Given the description of an element on the screen output the (x, y) to click on. 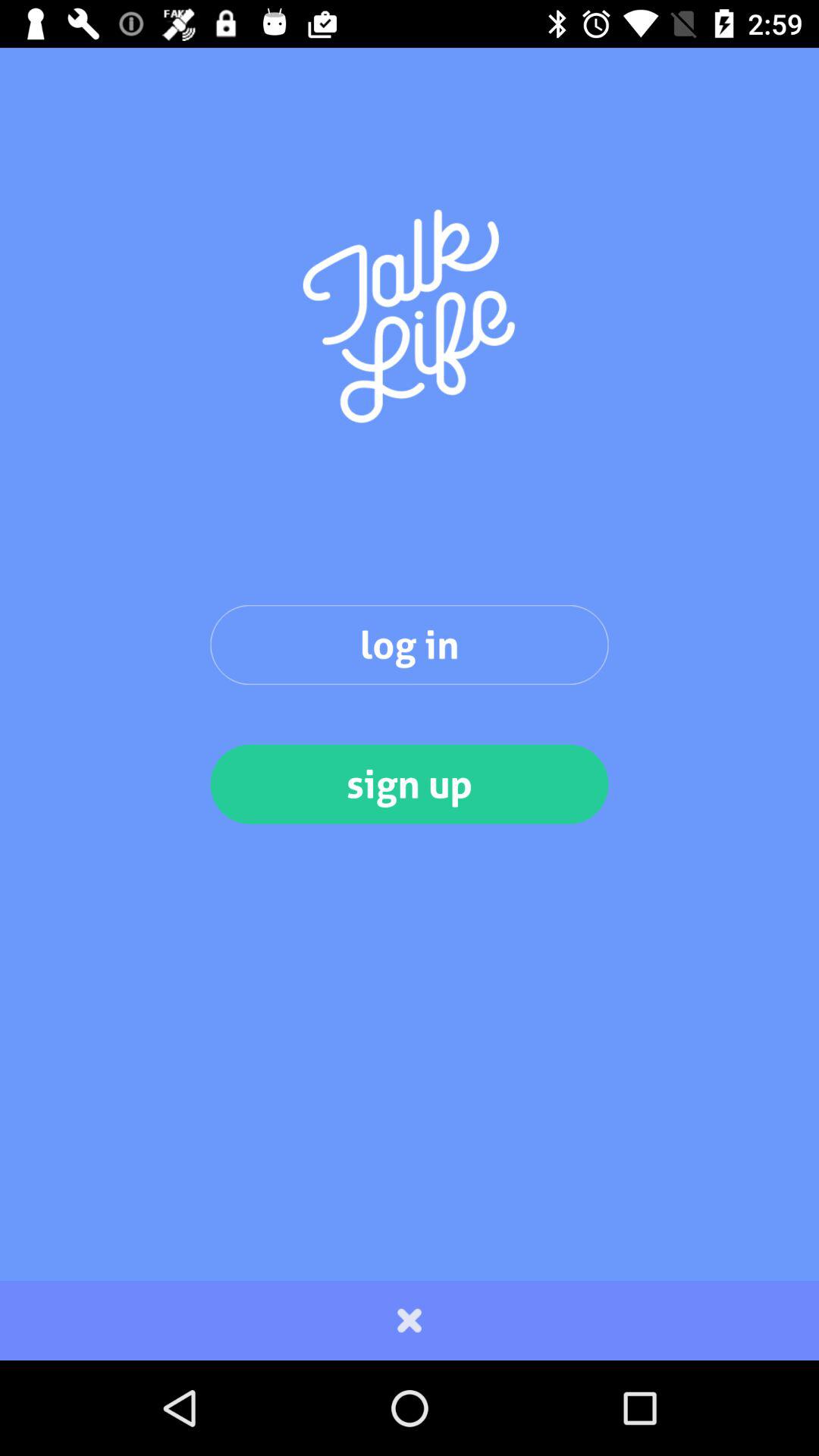
launch item below the log in (409, 784)
